Given the description of an element on the screen output the (x, y) to click on. 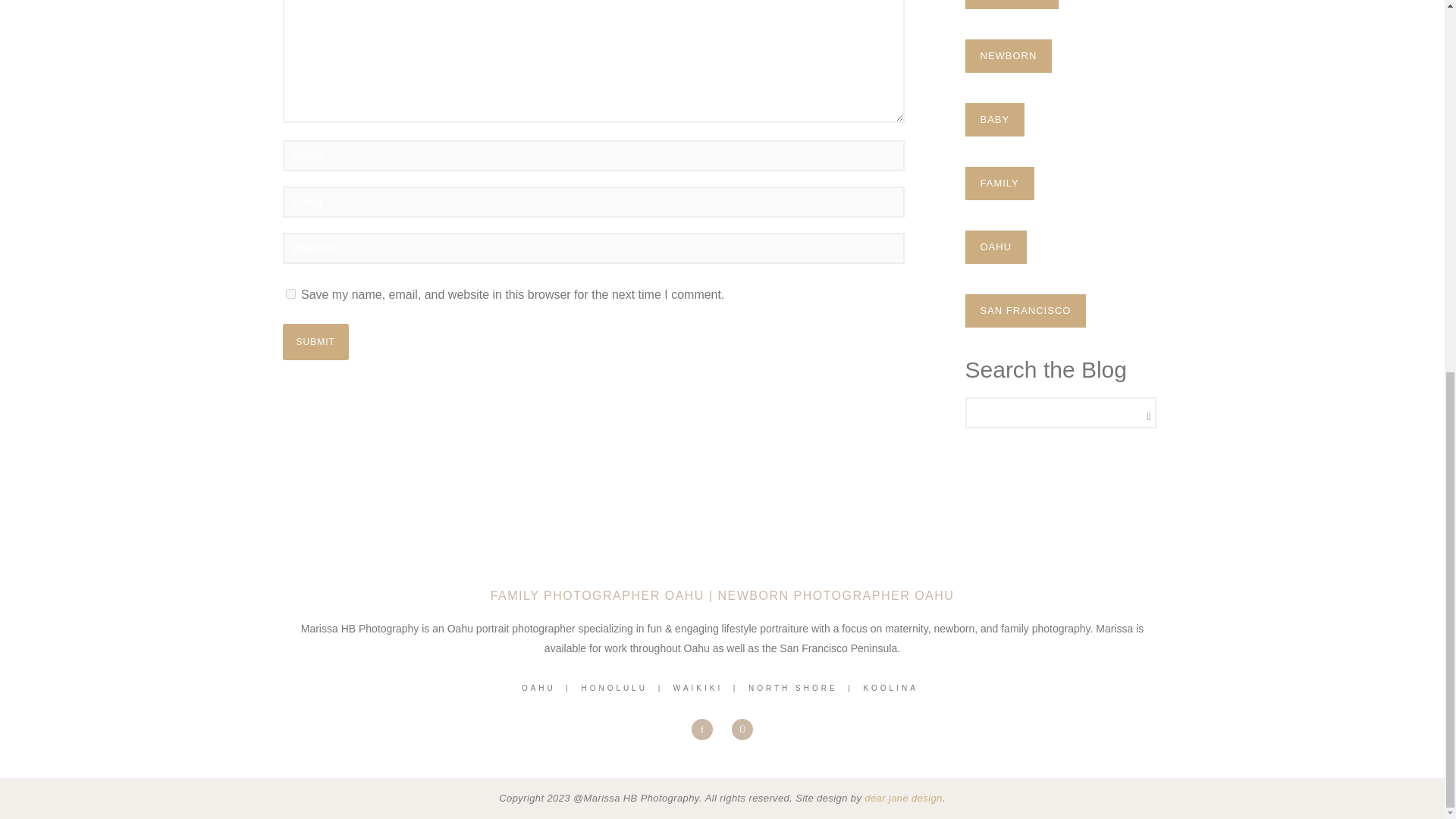
Submit (314, 341)
FAMILY (998, 183)
MATERNITY (1010, 4)
NEWBORN (1007, 55)
Submit (314, 341)
BABY (994, 119)
yes (290, 293)
